Given the description of an element on the screen output the (x, y) to click on. 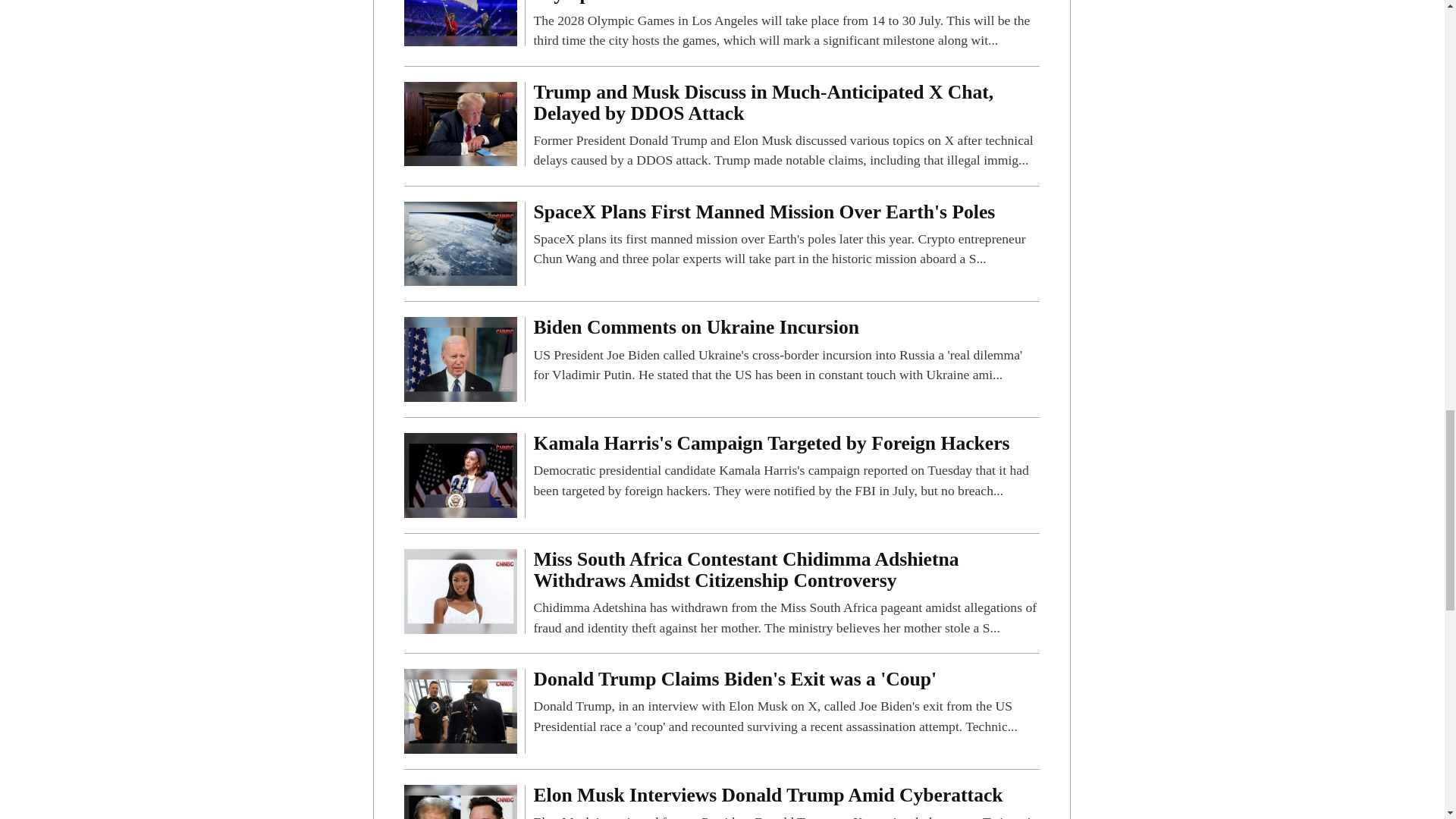
Donald Trump Claims Biden's Exit was a 'Coup' (460, 709)
Preparations Underway for Los Angeles 2028 Summer Olympics (460, 4)
Elon Musk Interviews Donald Trump Amid Cyberattack (785, 801)
